Given the description of an element on the screen output the (x, y) to click on. 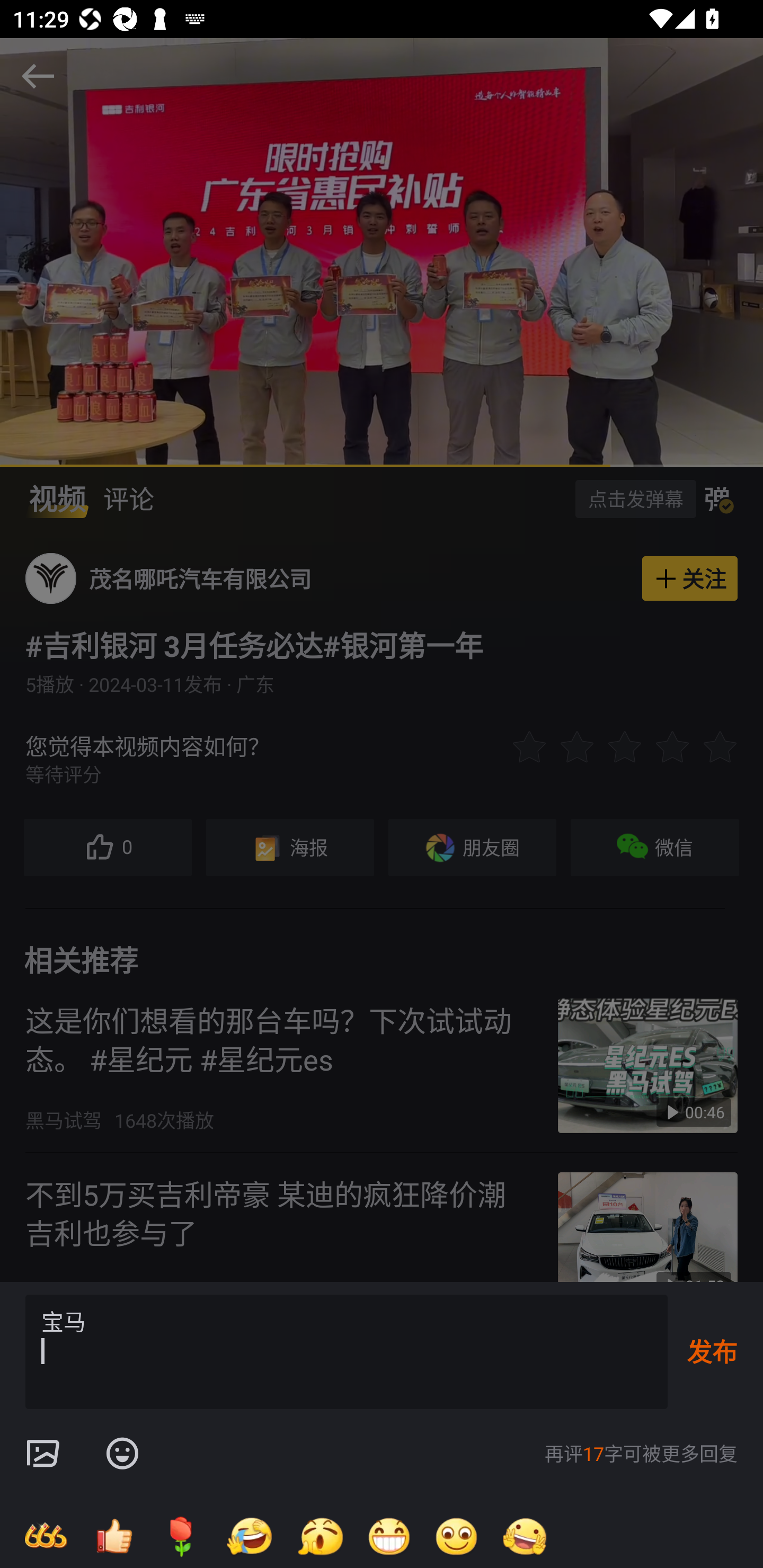
宝马
 (346, 1352)
发布 (711, 1351)
 (42, 1453)
 (122, 1453)
再评17字可被更多回复 (640, 1453)
[666] (45, 1535)
[赞] (112, 1535)
[玫瑰] (180, 1535)
[我想静静] (249, 1535)
[小鼓掌] (320, 1535)
[呲牙] (389, 1535)
[微笑] (456, 1535)
[耶] (524, 1535)
